Given the description of an element on the screen output the (x, y) to click on. 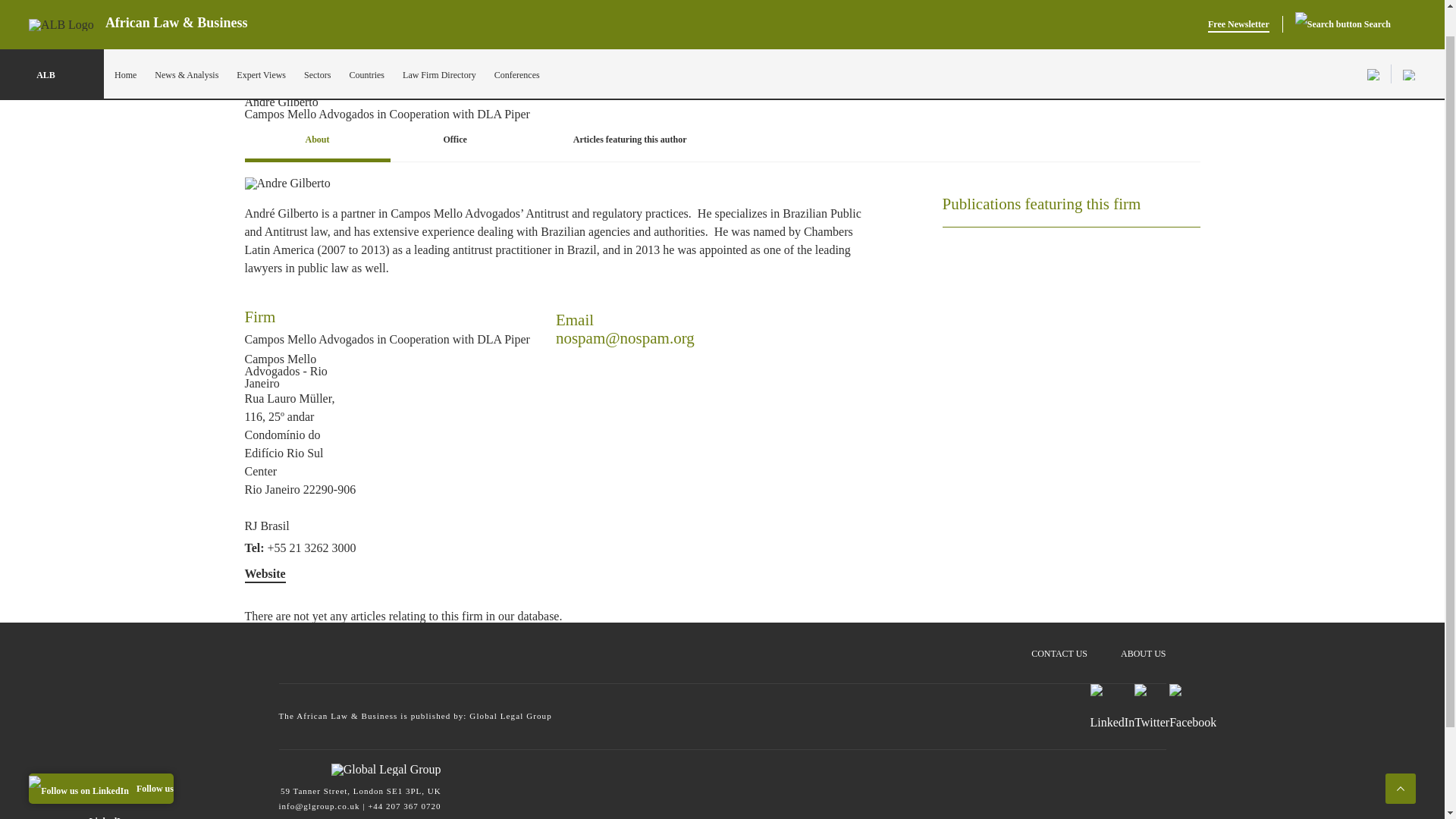
CONTACT US (1058, 646)
Free Newsletter (1238, 3)
Expert Views (260, 44)
Follow us on LinkedIn (101, 757)
Website (264, 574)
Campos Mello Advogados in Cooperation with DLA Piper (386, 338)
Conferences (517, 44)
Campos Mello Advogados in Cooperation with DLA Piper (492, 87)
Search (1342, 3)
Andre Gilberto (287, 183)
Law Firm Directory (439, 44)
Articles featuring this author (629, 141)
About (317, 141)
Office (454, 141)
ABOUT US (1143, 646)
